Given the description of an element on the screen output the (x, y) to click on. 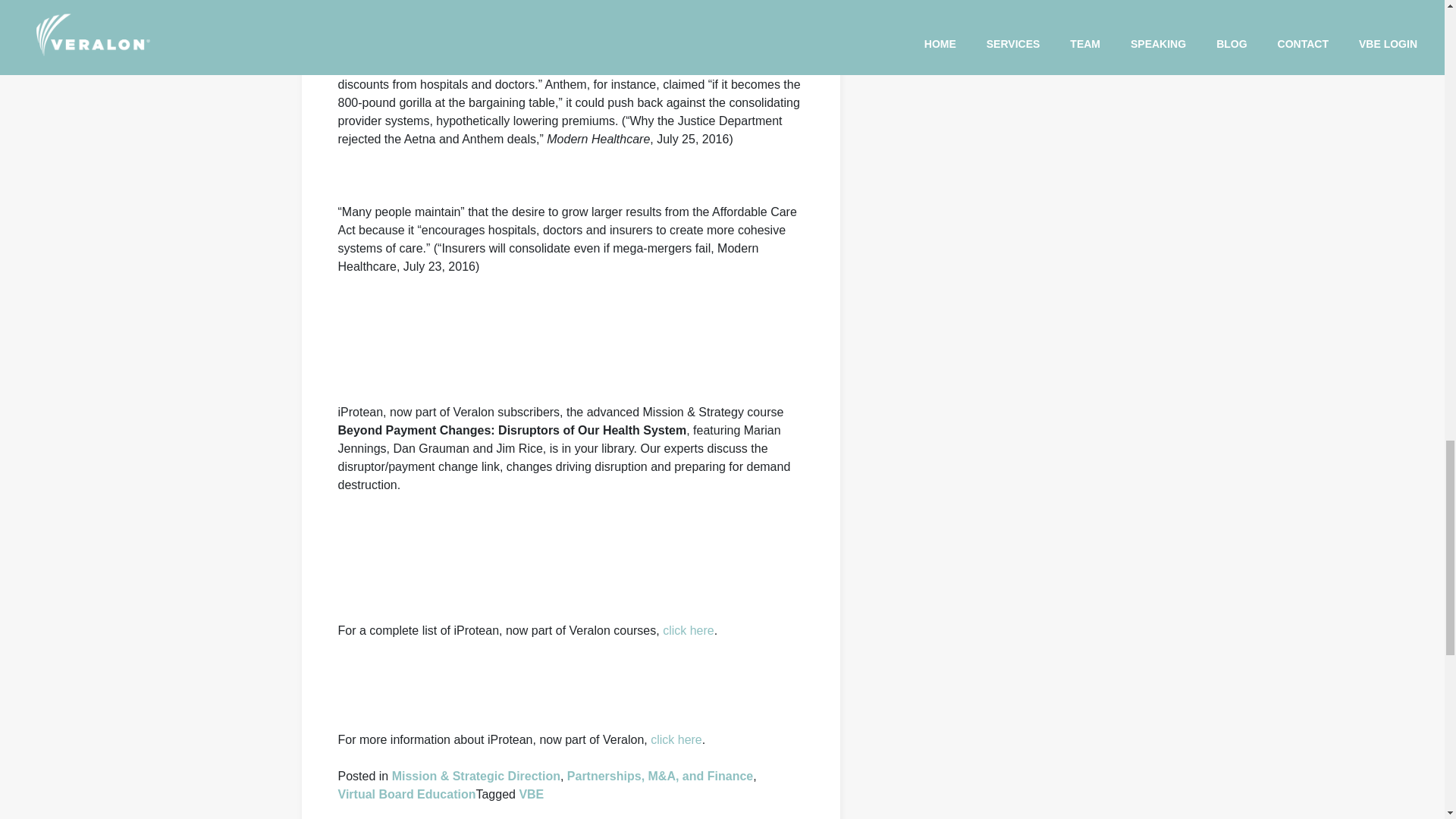
click here (688, 630)
VBE (530, 794)
Virtual Board Education (406, 794)
click here (675, 740)
